Given the description of an element on the screen output the (x, y) to click on. 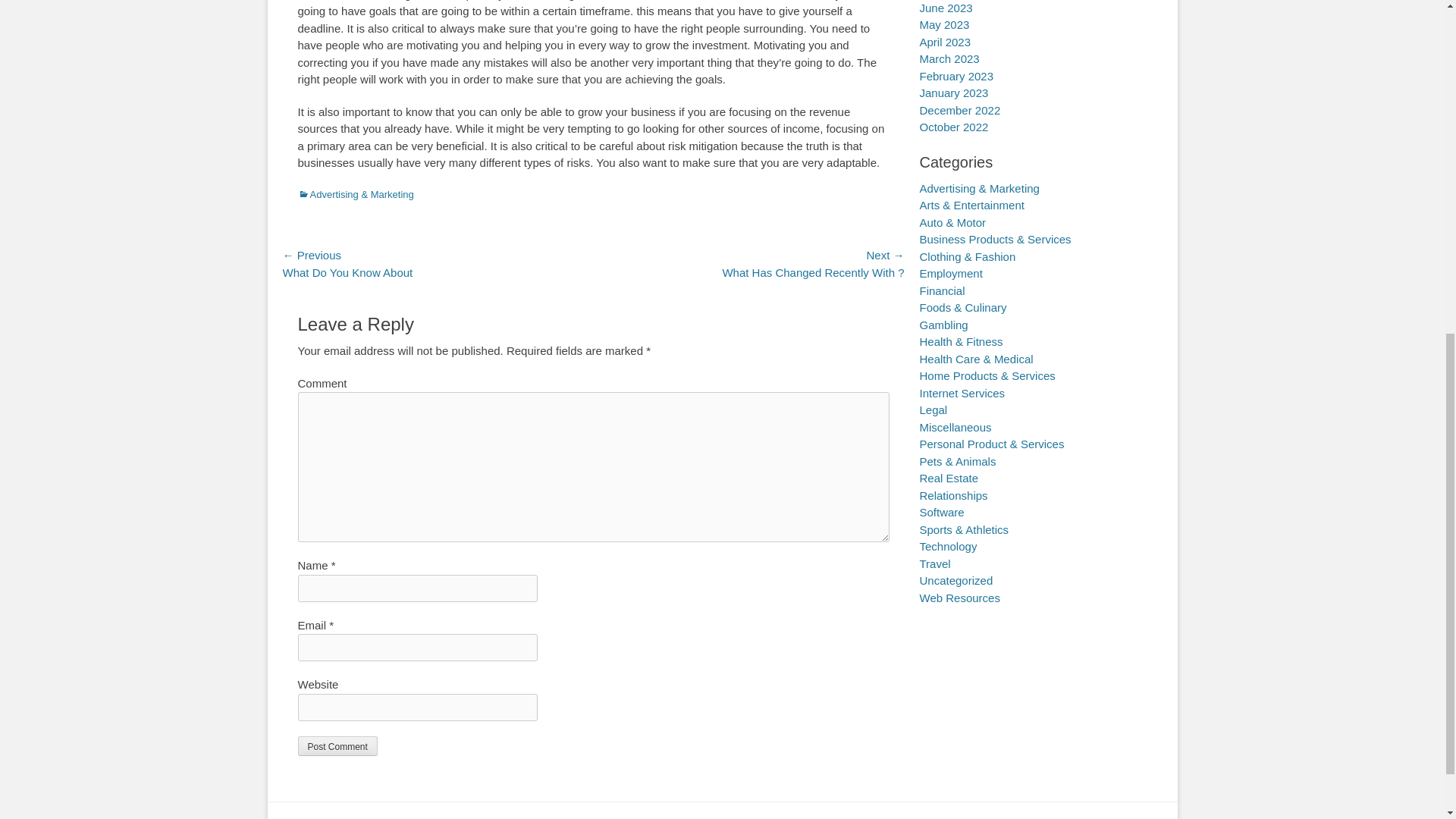
June 2023 (945, 7)
Post Comment (337, 745)
March 2023 (948, 58)
Post Comment (337, 745)
May 2023 (943, 24)
April 2023 (944, 42)
